Given the description of an element on the screen output the (x, y) to click on. 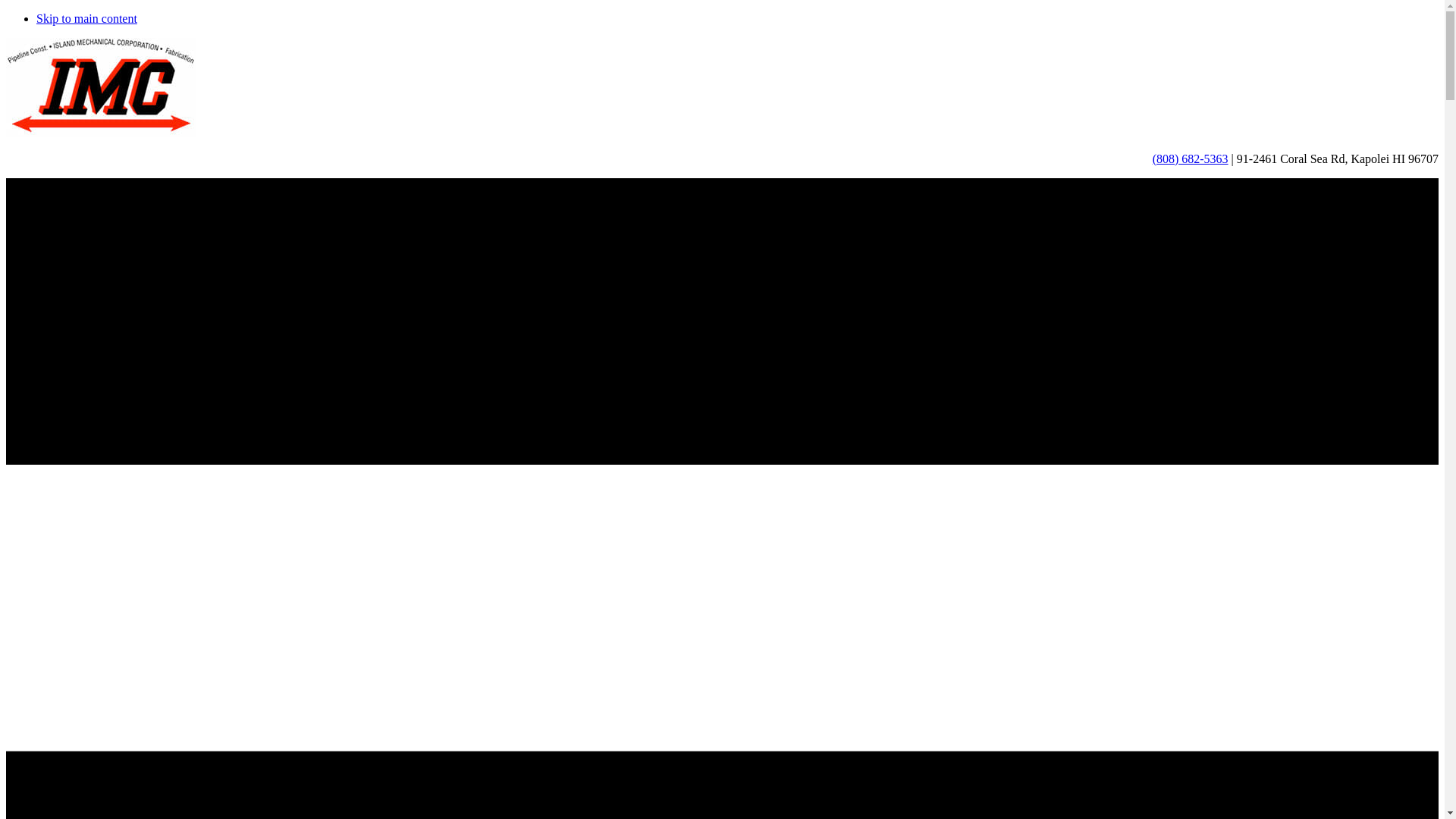
Island mechanical Logo (100, 87)
Skip to main content (86, 18)
